Given the description of an element on the screen output the (x, y) to click on. 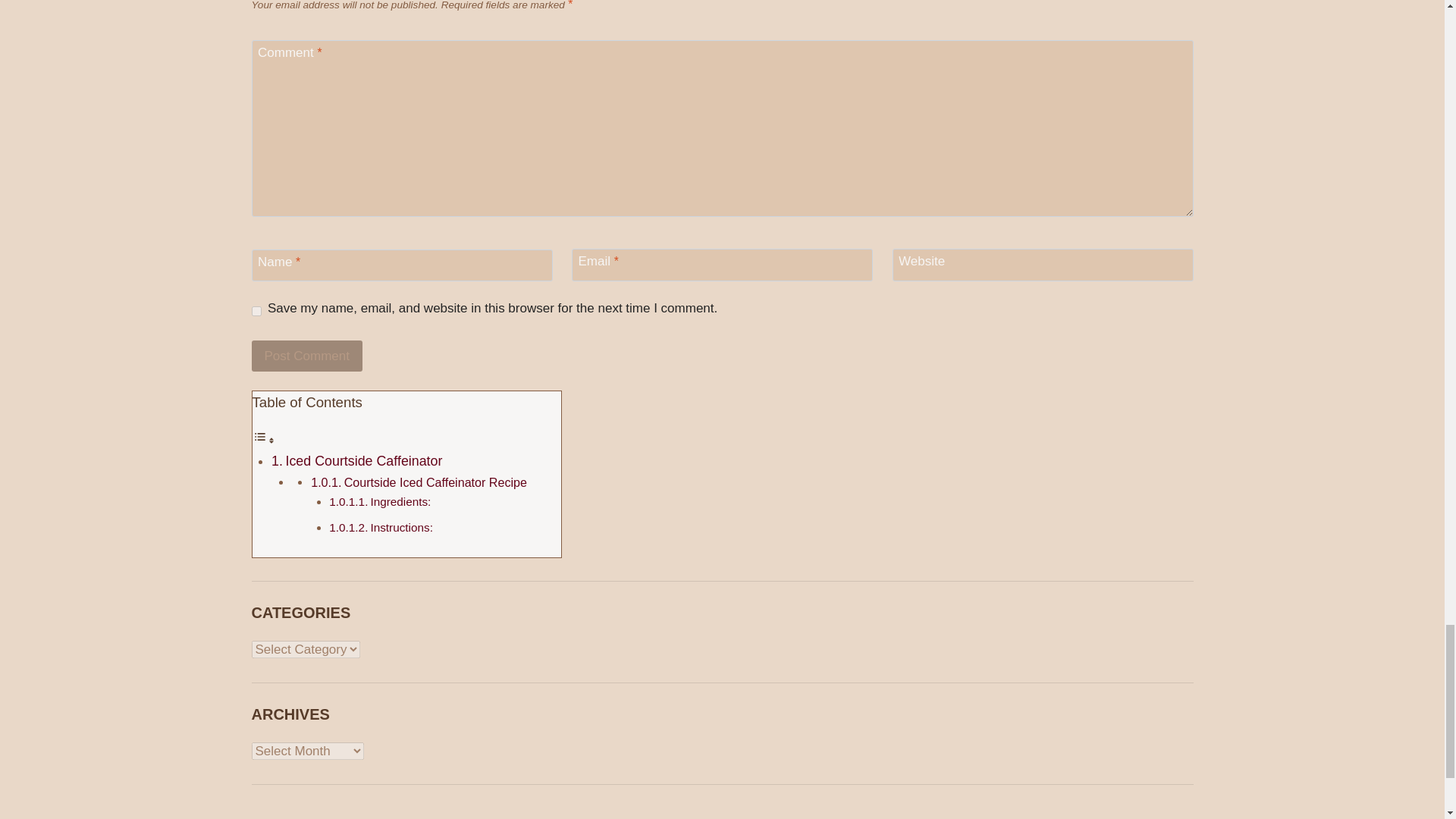
Instructions: (400, 526)
Courtside Iced Caffeinator Recipe (435, 481)
Iced Courtside Caffeinator (363, 460)
yes (256, 311)
Ingredients: (399, 501)
Post Comment (306, 355)
